Given the description of an element on the screen output the (x, y) to click on. 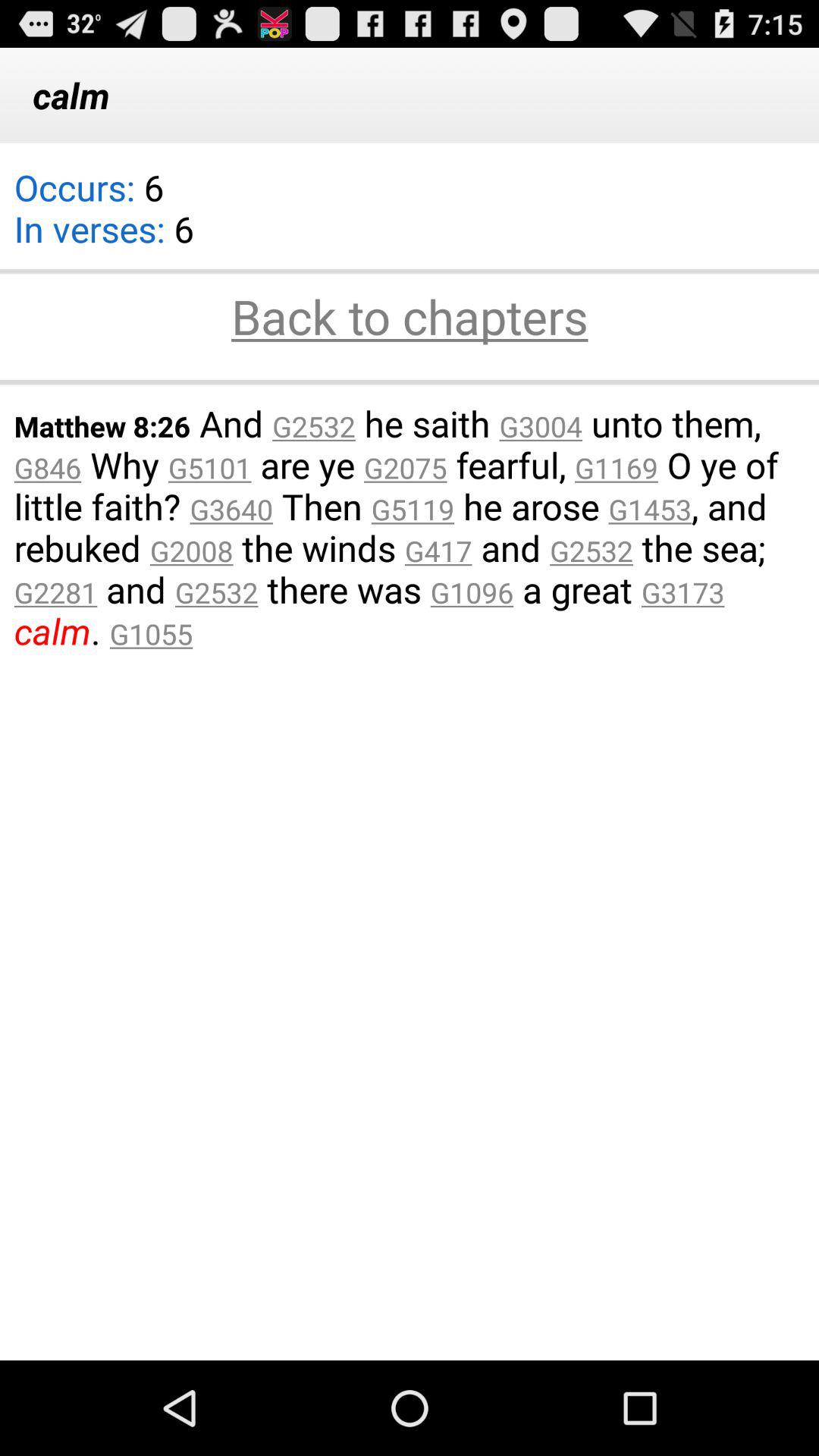
turn on the app below calm app (103, 218)
